Given the description of an element on the screen output the (x, y) to click on. 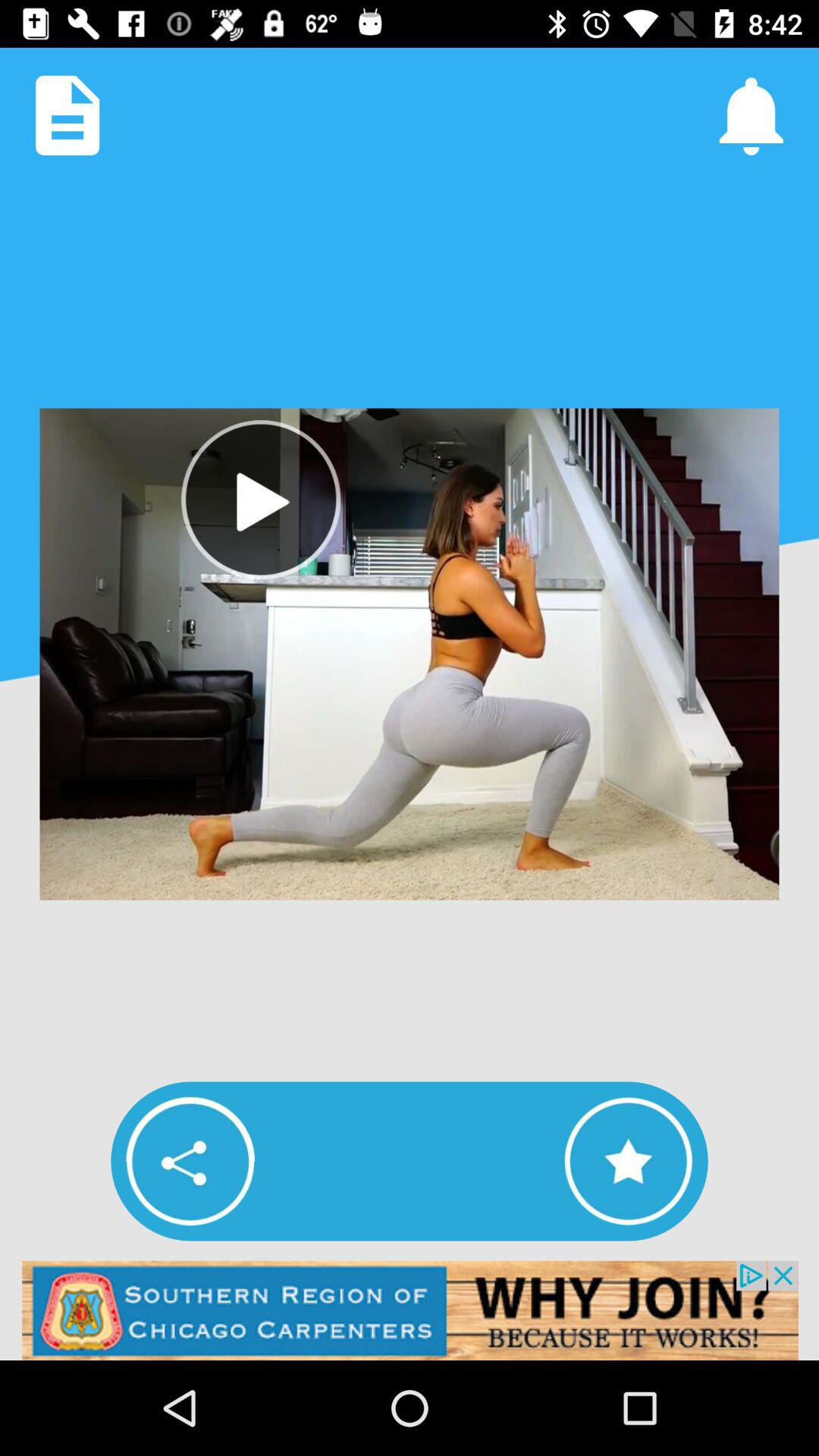
open advertisement (409, 1310)
